Given the description of an element on the screen output the (x, y) to click on. 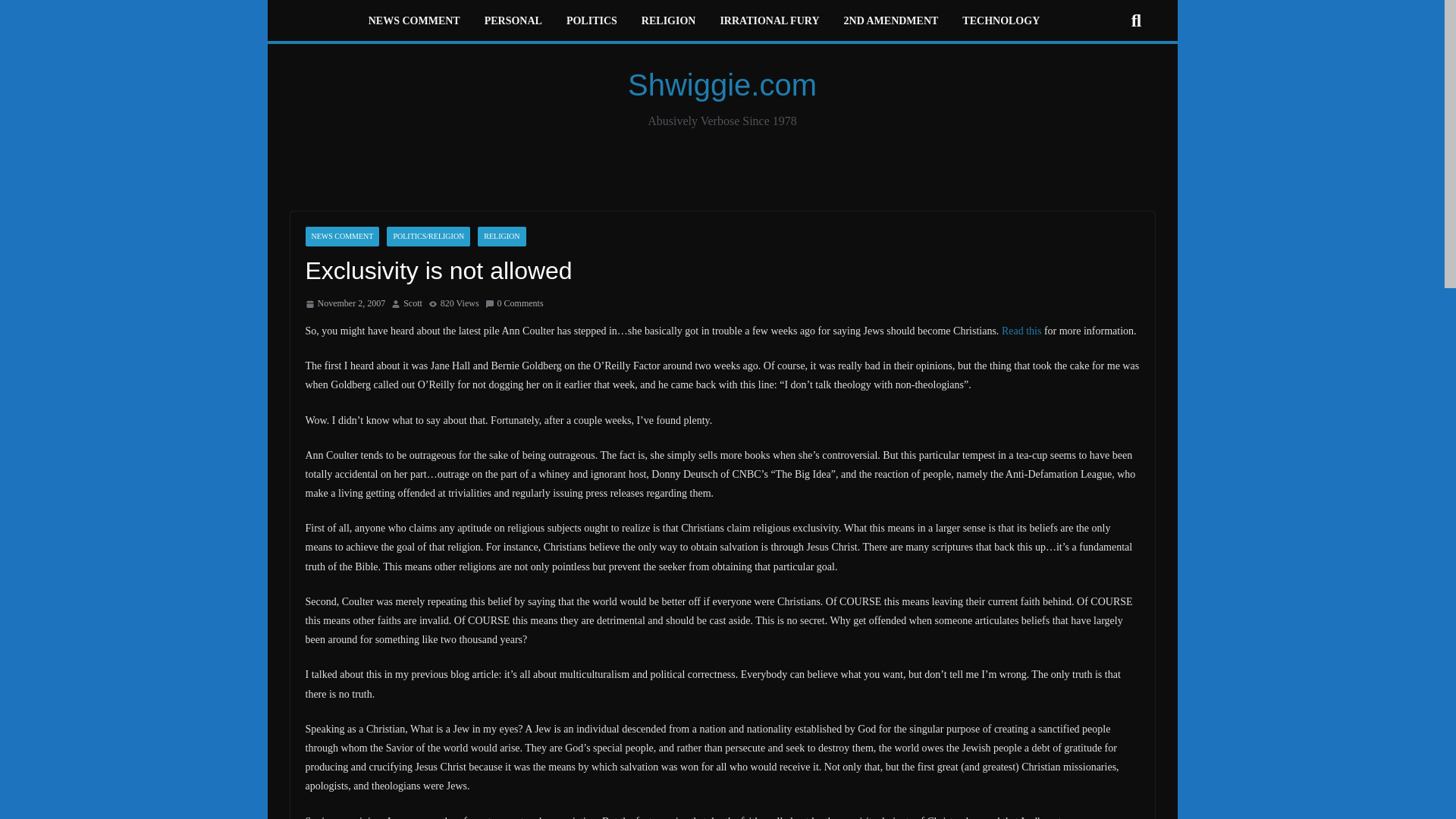
RELIGION (501, 236)
RELIGION (668, 21)
NEWS COMMENT (341, 236)
Scott (412, 303)
November 2, 2007 (344, 303)
Shwiggie.com (721, 84)
Scott (412, 303)
POLITICS (591, 21)
IRRATIONAL FURY (768, 21)
PERSONAL (512, 21)
